Given the description of an element on the screen output the (x, y) to click on. 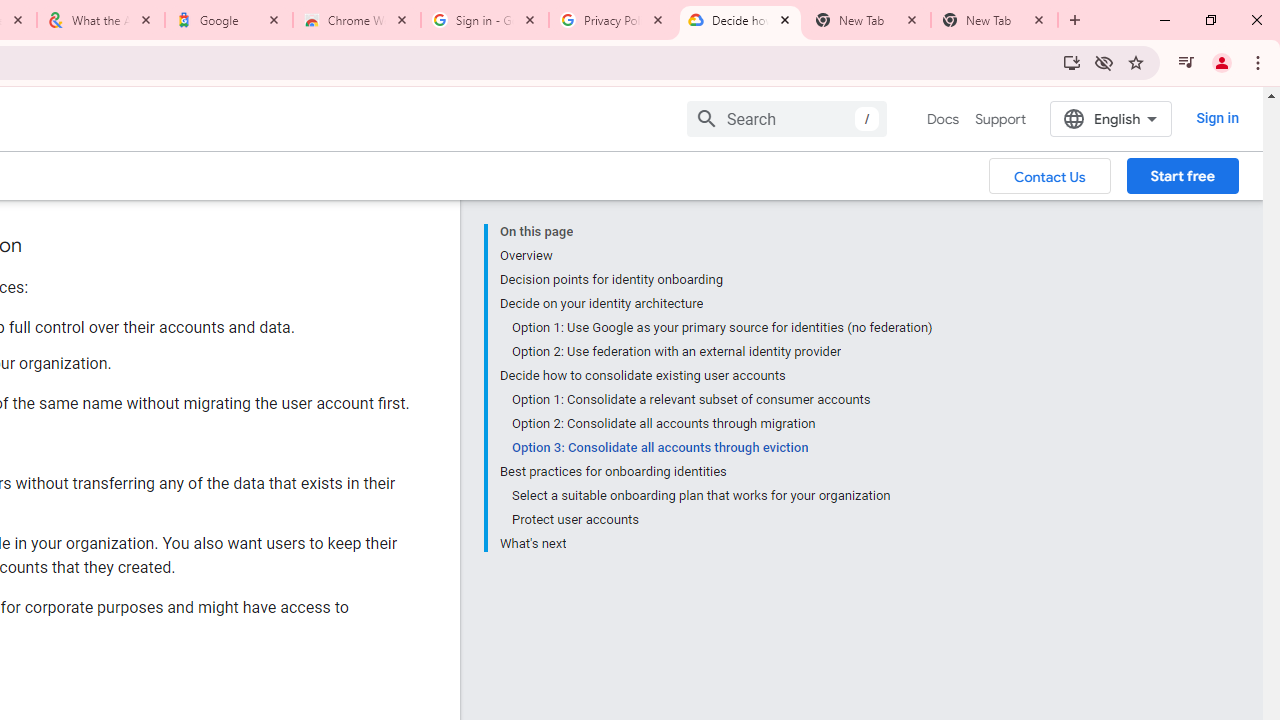
What's next (716, 542)
Google (229, 20)
Best practices for onboarding identities (716, 471)
New Tab (994, 20)
